Given the description of an element on the screen output the (x, y) to click on. 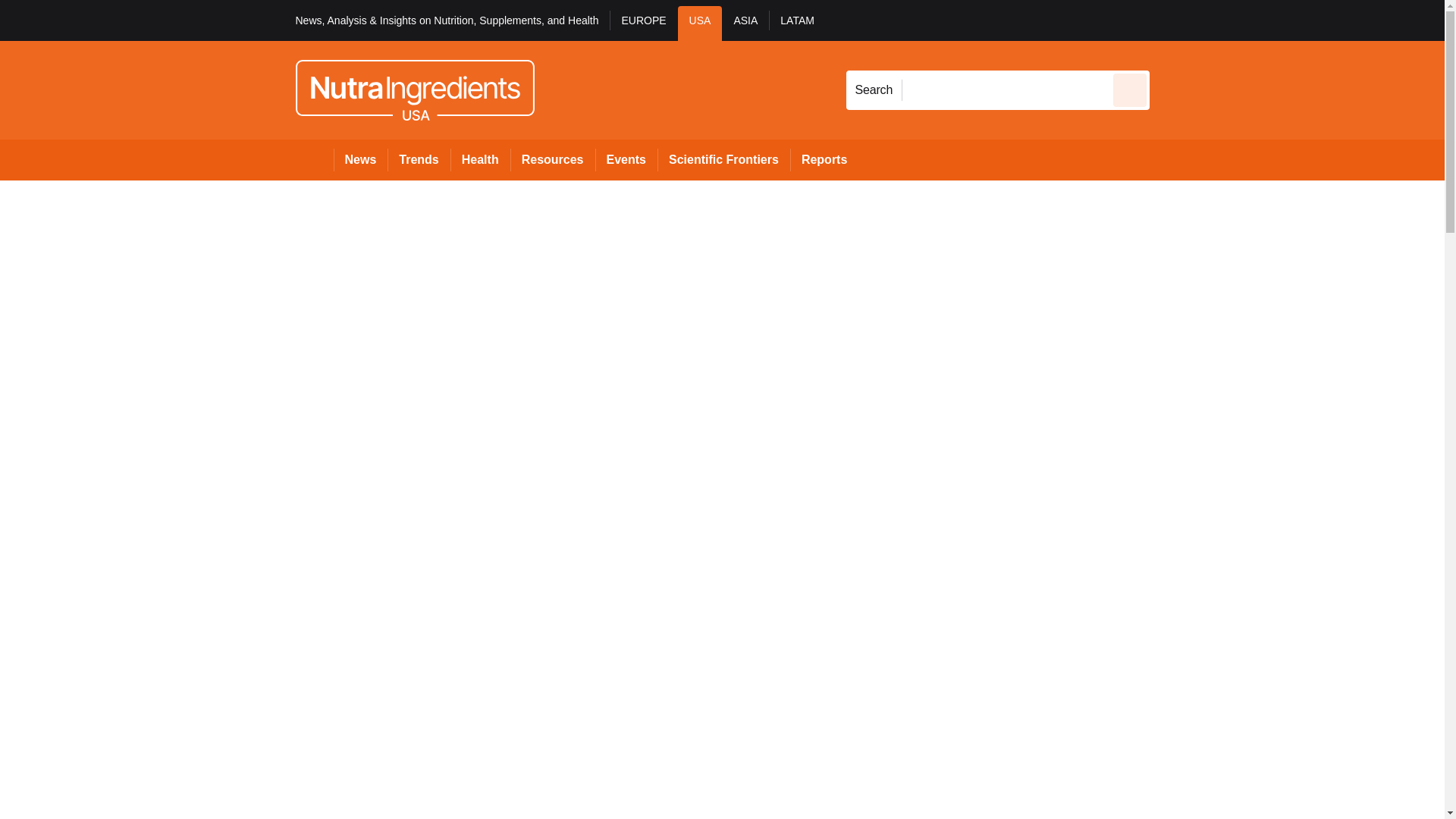
Home (314, 159)
SUBSCRIBE (1362, 20)
Send (1129, 89)
EUROPE (643, 22)
USA (700, 22)
My account (1256, 20)
ASIA (745, 22)
Send (1129, 90)
LATAM (796, 22)
Trends (418, 159)
Home (313, 159)
Sign in (1171, 20)
SUBSCRIBE (1318, 20)
Register (1231, 20)
NutraIngredients USA (414, 89)
